Given the description of an element on the screen output the (x, y) to click on. 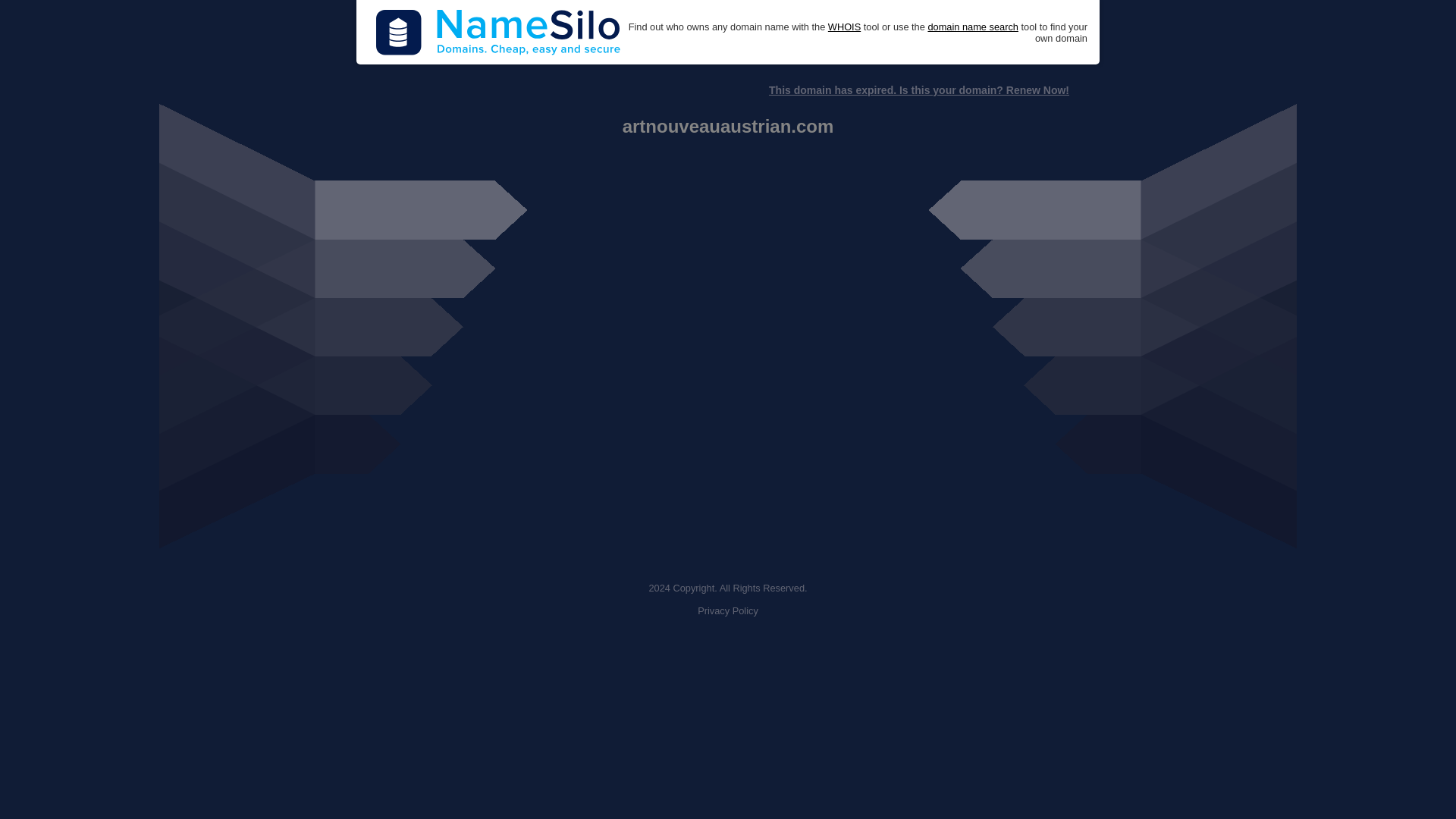
WHOIS (844, 26)
Privacy Policy (727, 610)
domain name search (972, 26)
This domain has expired. Is this your domain? Renew Now! (918, 90)
